Given the description of an element on the screen output the (x, y) to click on. 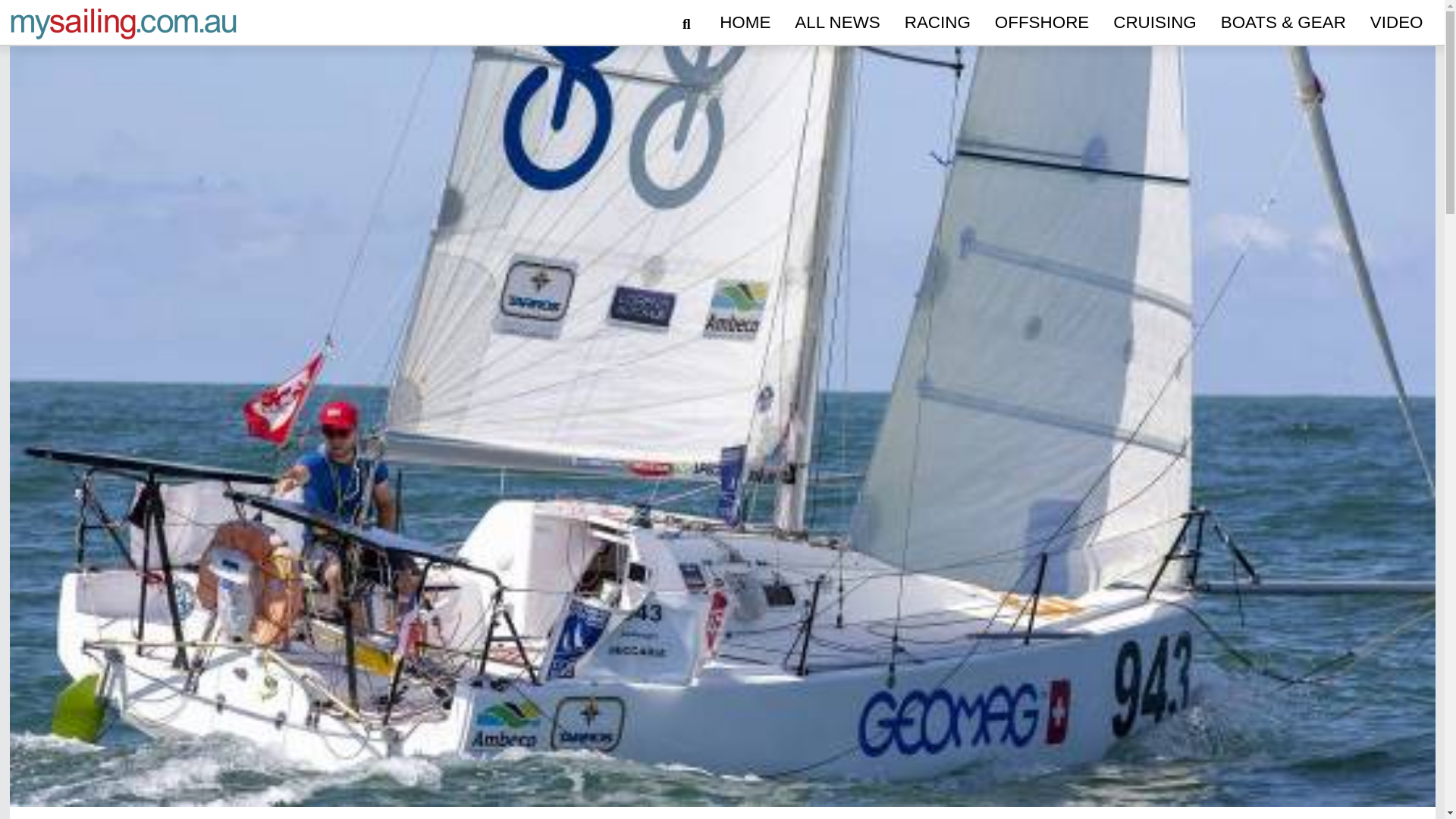
Offshore (1041, 22)
VIDEO (1396, 22)
OFFSHORE (1041, 22)
RACING (937, 22)
Video (1396, 22)
All News (837, 22)
Cruising (1154, 22)
Home (744, 22)
Racing (937, 22)
CRUISING (1154, 22)
HOME (744, 22)
ALL NEWS (837, 22)
